Given the description of an element on the screen output the (x, y) to click on. 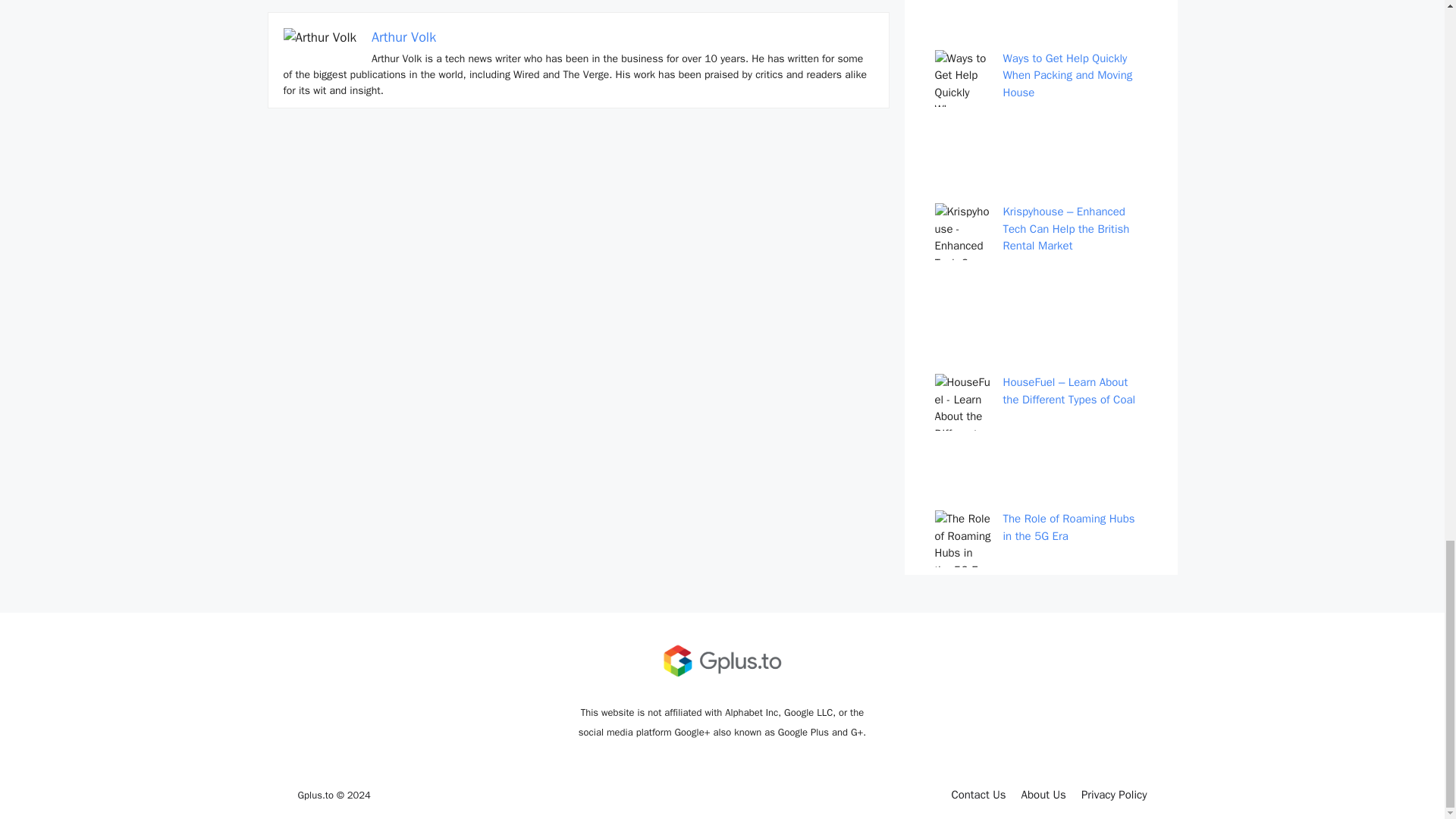
About Us (1043, 794)
Arthur Volk (403, 36)
Contact Us (978, 794)
Ways to Get Help Quickly When Packing and Moving House (1067, 74)
Privacy Policy (1114, 794)
The Role of Roaming Hubs in the 5G Era (1068, 526)
